Given the description of an element on the screen output the (x, y) to click on. 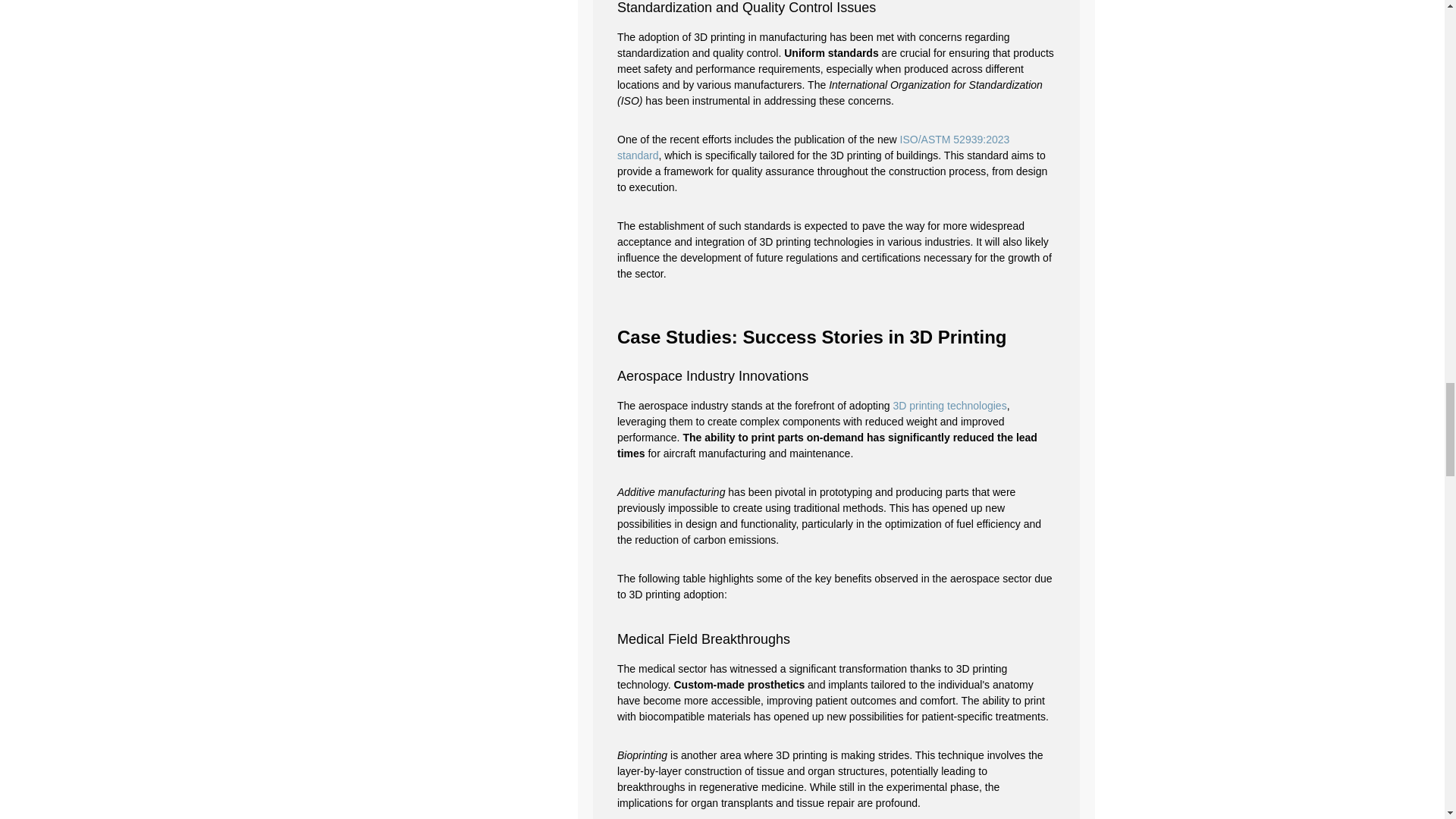
3D printing technologies (949, 405)
